Given the description of an element on the screen output the (x, y) to click on. 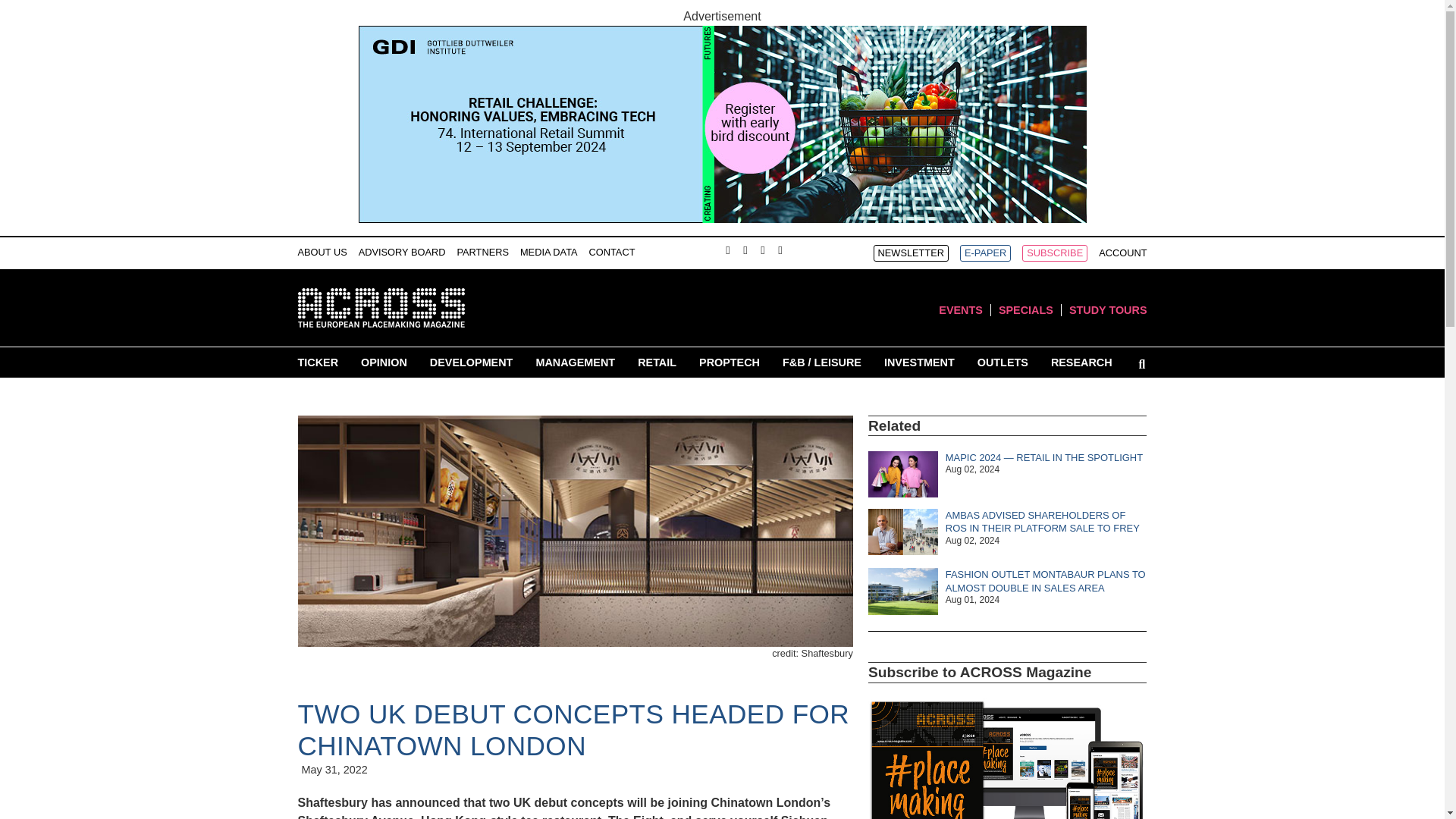
PROPTECH (729, 362)
SPECIALS (1025, 309)
Subscribe to the ACROSS Newsletter (911, 252)
OPINION (384, 362)
TICKER (317, 362)
SUBSCRIBE (1054, 252)
RETAIL (657, 362)
NEWSLETTER (911, 252)
MEDIA DATA (548, 252)
DEVELOPMENT (471, 362)
STUDY TOURS (1107, 309)
ADVISORY BOARD (401, 252)
E-PAPER (984, 252)
ACCOUNT (1123, 252)
INVESTMENT (919, 362)
